Given the description of an element on the screen output the (x, y) to click on. 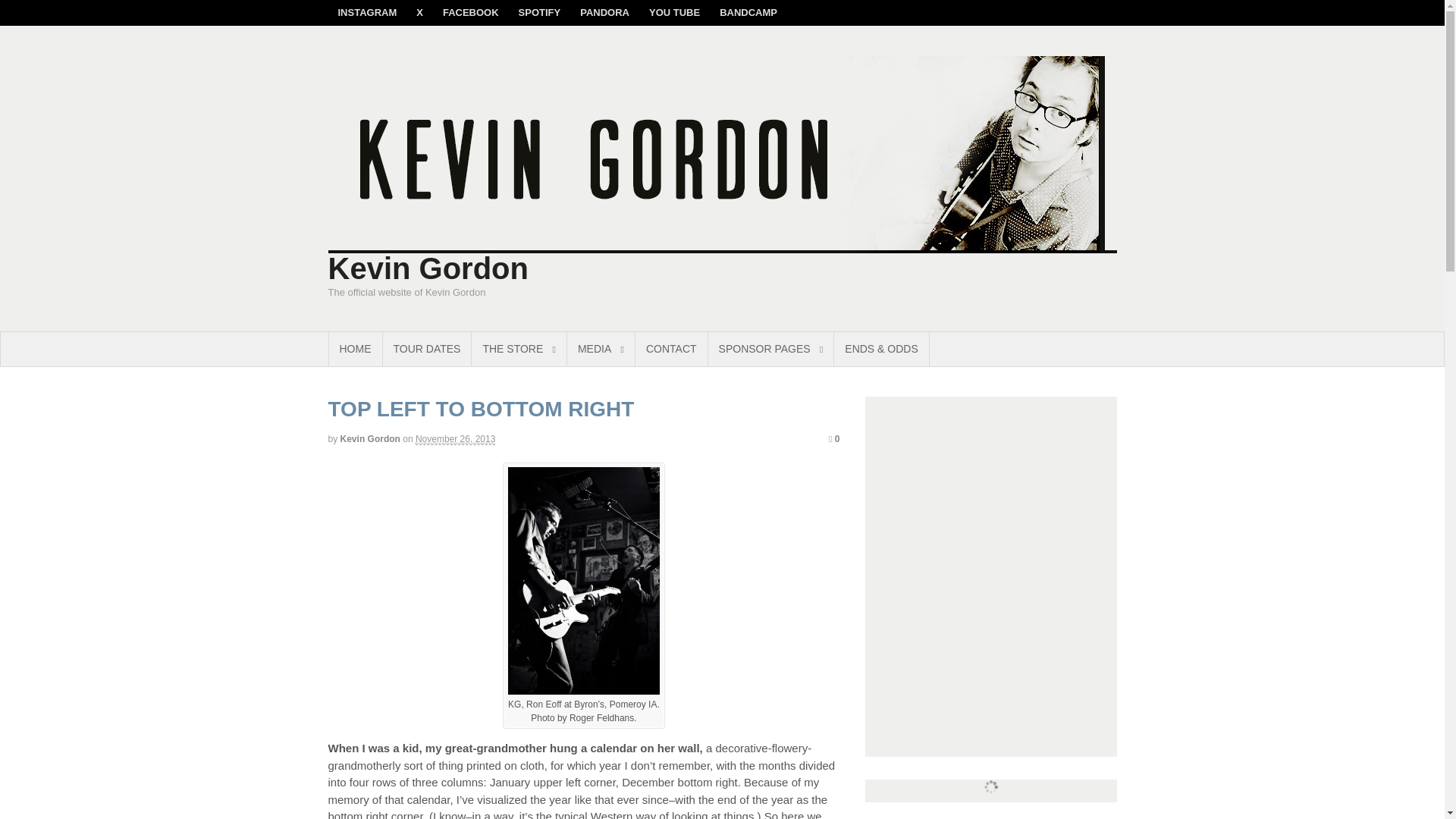
TOUR DATES (425, 349)
PANDORA (604, 12)
Posts by kevin gordon (370, 439)
Kevin Gordon (427, 268)
The official website of Kevin Gordon (721, 244)
0 (834, 439)
THE STORE (518, 349)
SPOTIFY (539, 12)
BANDCAMP (748, 12)
2013-11-26T21:29:01-0500 (454, 439)
YOU TUBE (674, 12)
INSTAGRAM (366, 12)
Kevin Gordon (370, 439)
SPONSOR PAGES (770, 349)
X (419, 12)
